Given the description of an element on the screen output the (x, y) to click on. 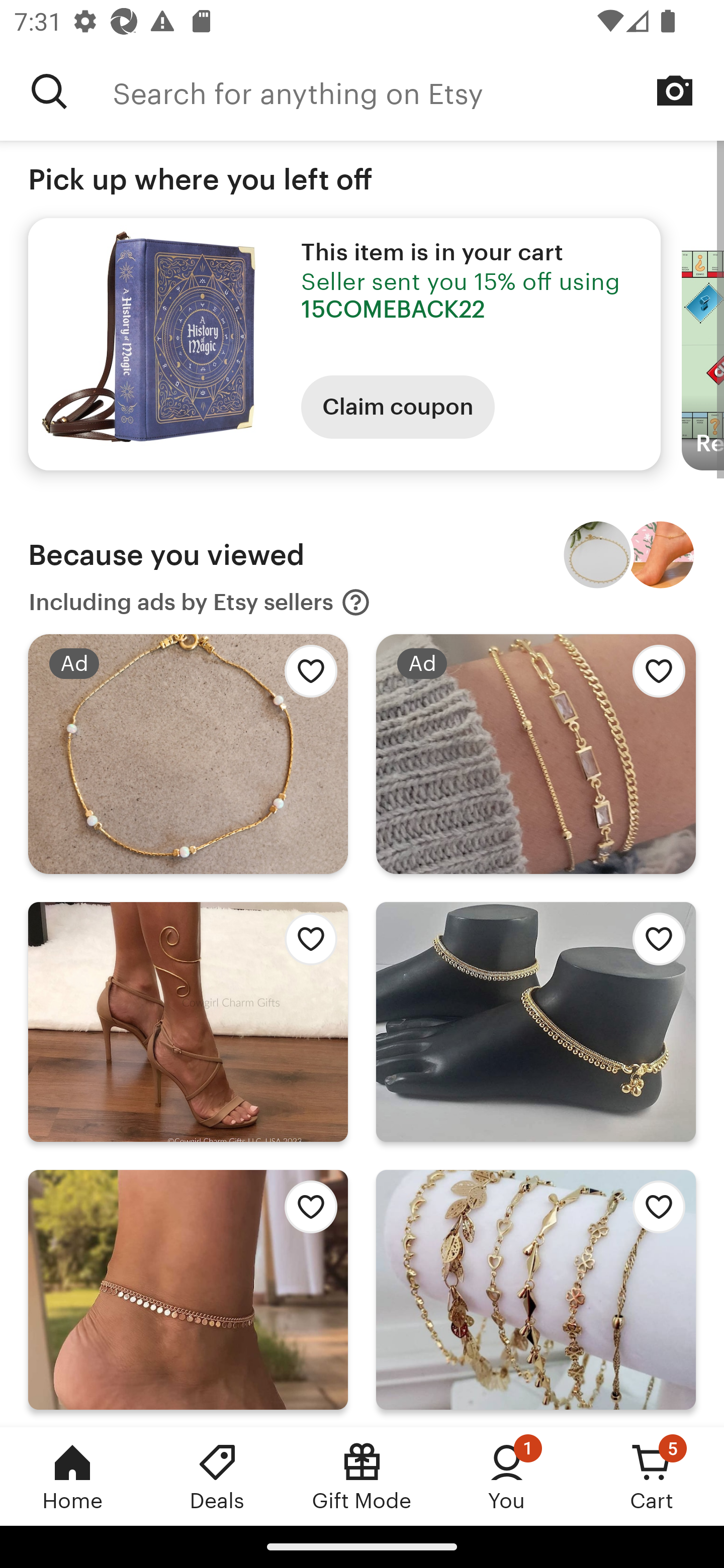
Search for anything on Etsy (49, 91)
Search by image (674, 90)
Search for anything on Etsy (418, 91)
Claim coupon (397, 407)
Including ads by Etsy sellers (199, 601)
Deals (216, 1475)
Gift Mode (361, 1475)
You, 1 new notification You (506, 1475)
Cart, 5 new notifications Cart (651, 1475)
